Given the description of an element on the screen output the (x, y) to click on. 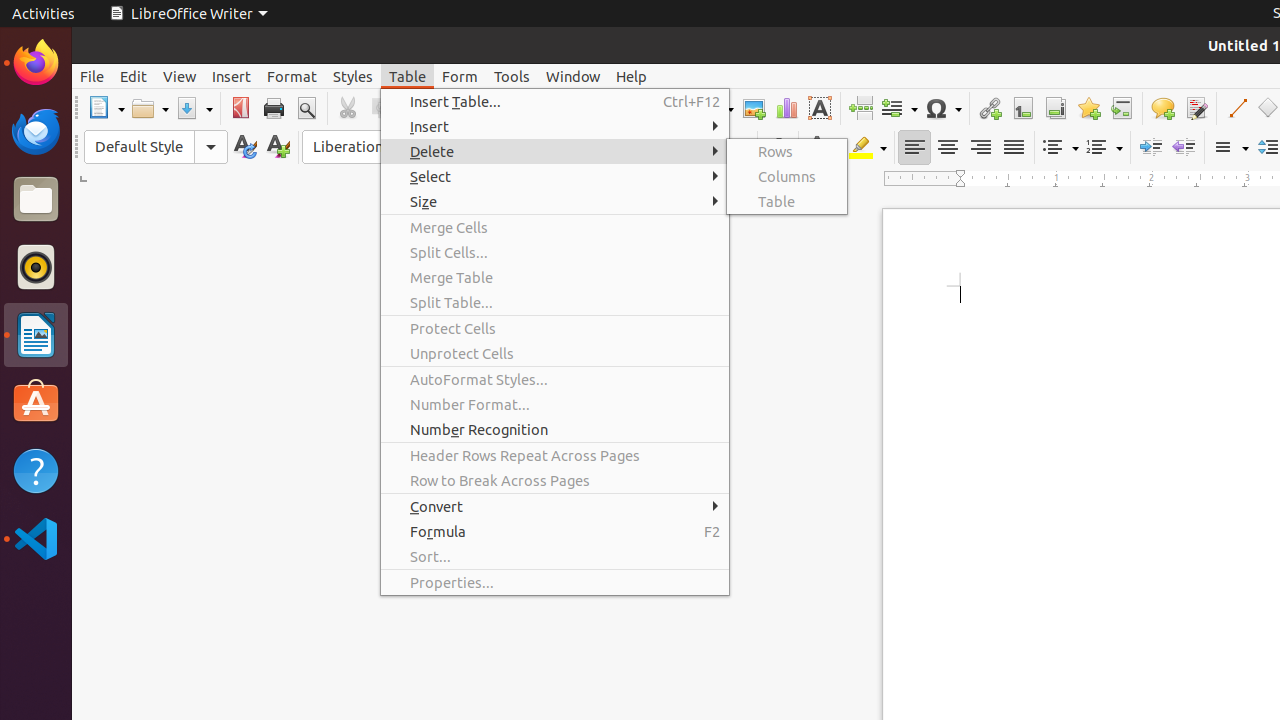
Bookmark Element type: push-button (1088, 108)
Paragraph Style Element type: combo-box (156, 147)
Rows Element type: menu-item (787, 151)
Format Element type: menu (292, 76)
Chart Element type: push-button (786, 108)
